Given the description of an element on the screen output the (x, y) to click on. 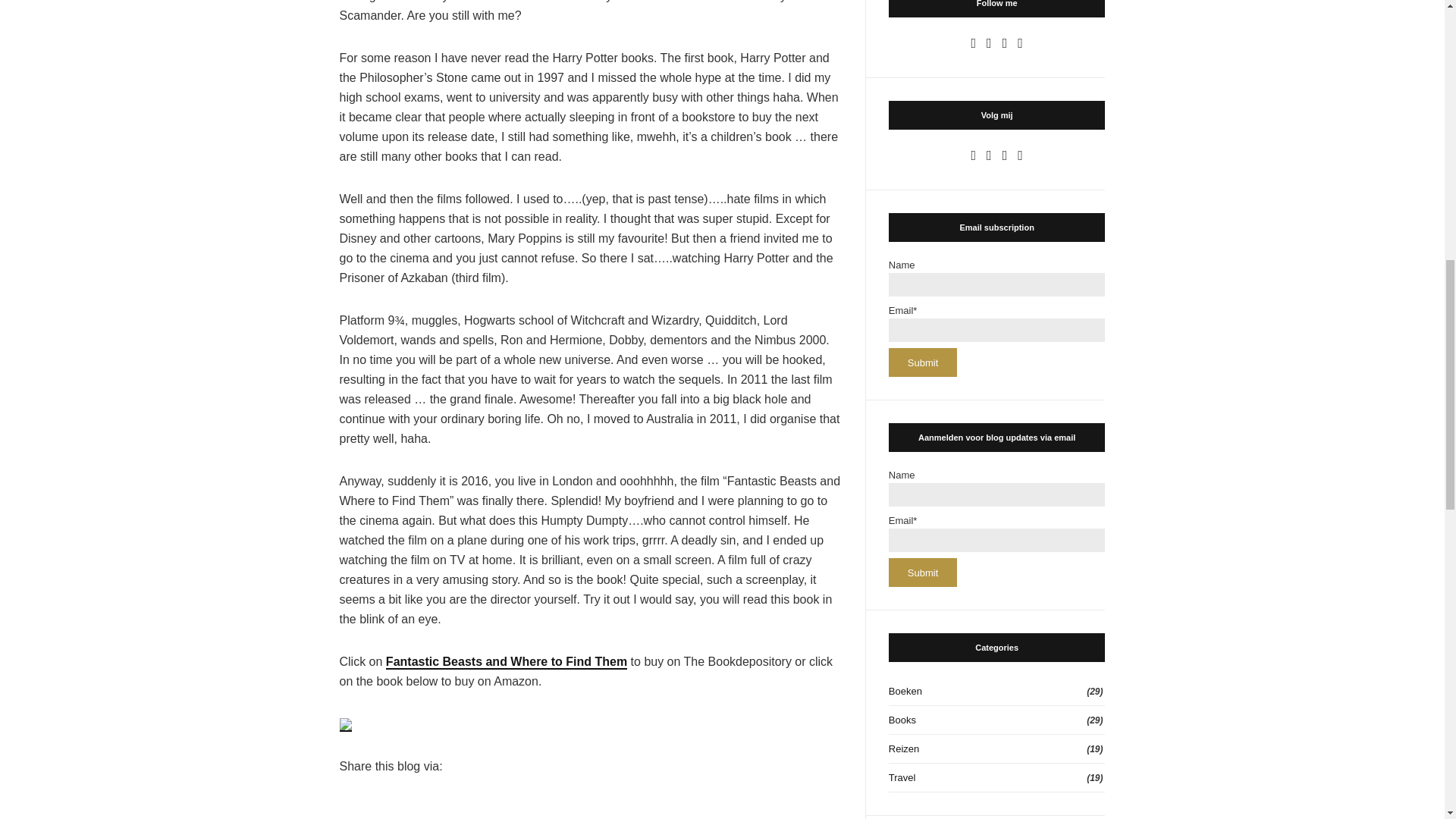
Submit (922, 572)
Submit (922, 362)
Fantastic Beasts (506, 662)
